Given the description of an element on the screen output the (x, y) to click on. 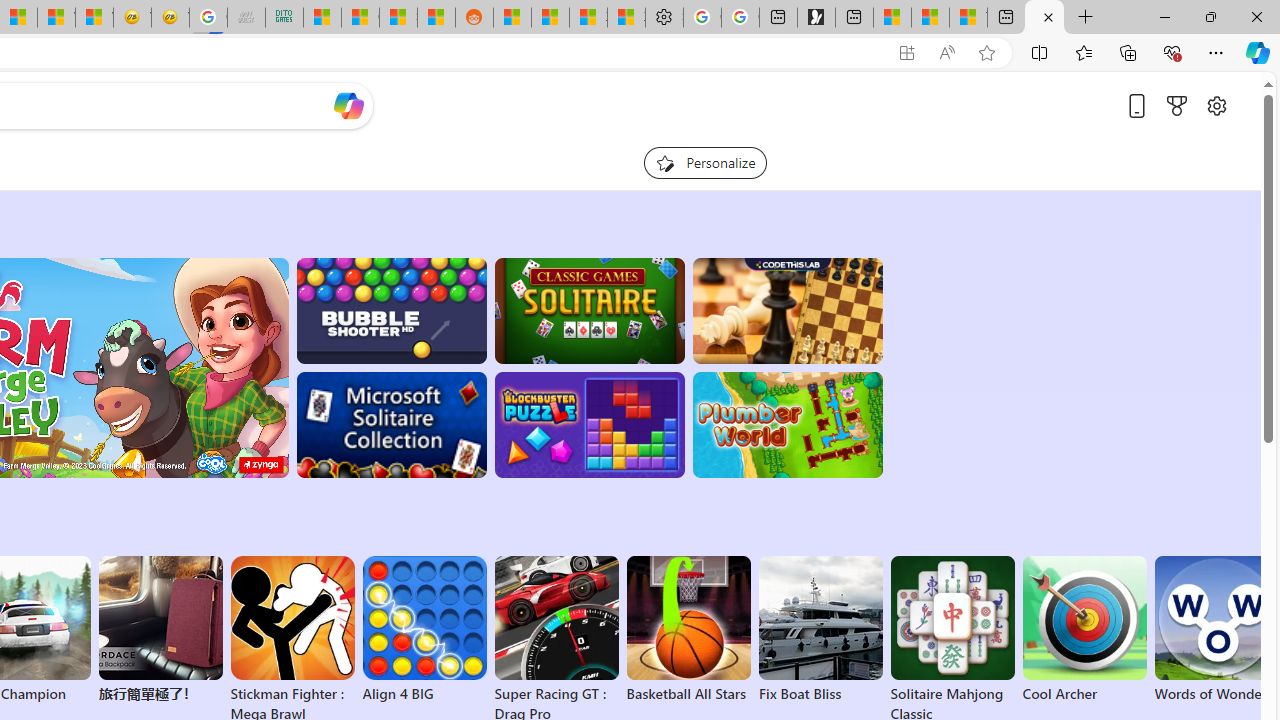
Fix Boat Bliss (820, 694)
Bubble Shooter HD (390, 310)
BlockBuster: Adventures Puzzle (589, 425)
These 3 Stocks Pay You More Than 5% to Own Them (967, 17)
Microsoft Solitaire Collection (390, 425)
Basketball All Stars (688, 629)
